Given the description of an element on the screen output the (x, y) to click on. 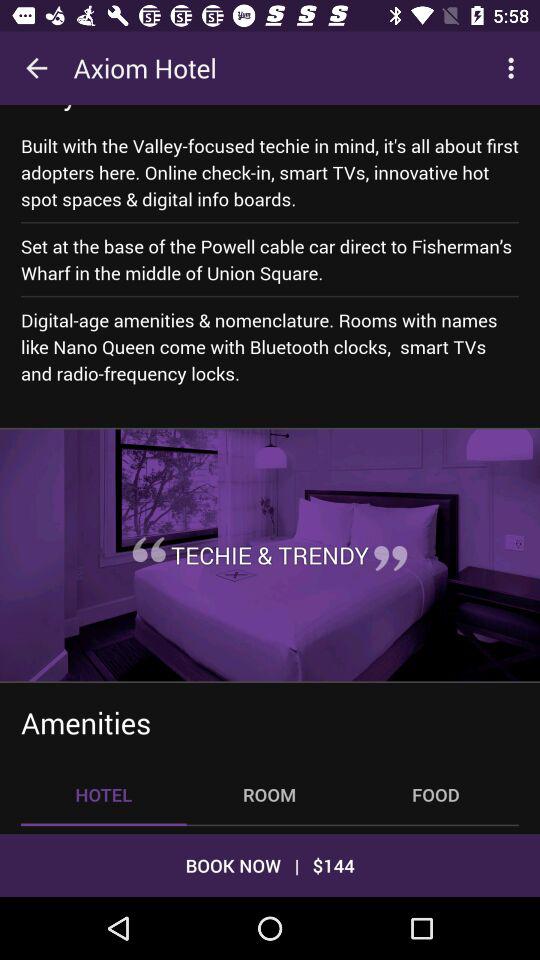
press icon above the why we like item (36, 68)
